Given the description of an element on the screen output the (x, y) to click on. 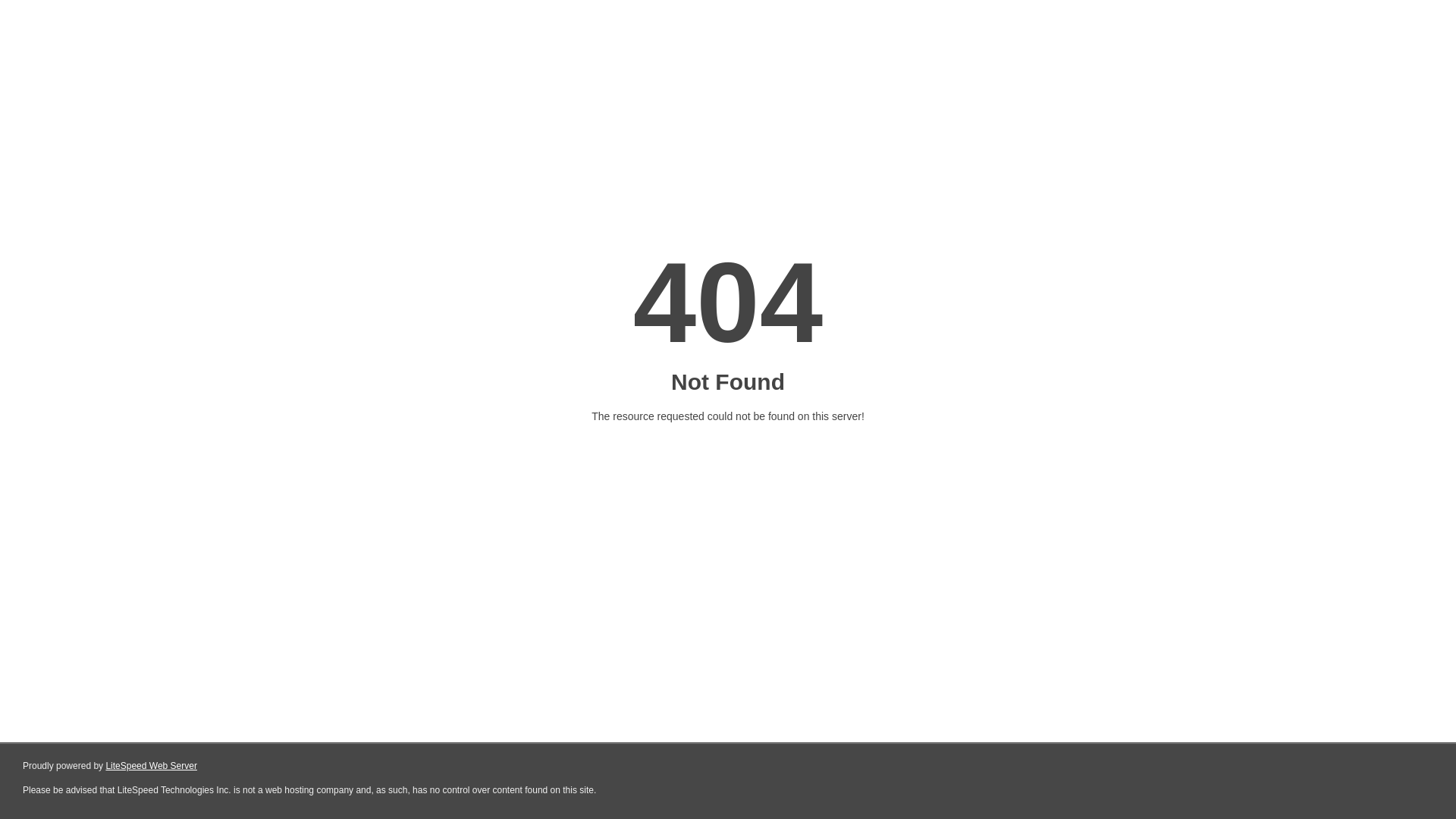
LiteSpeed Web Server Element type: text (151, 765)
